Given the description of an element on the screen output the (x, y) to click on. 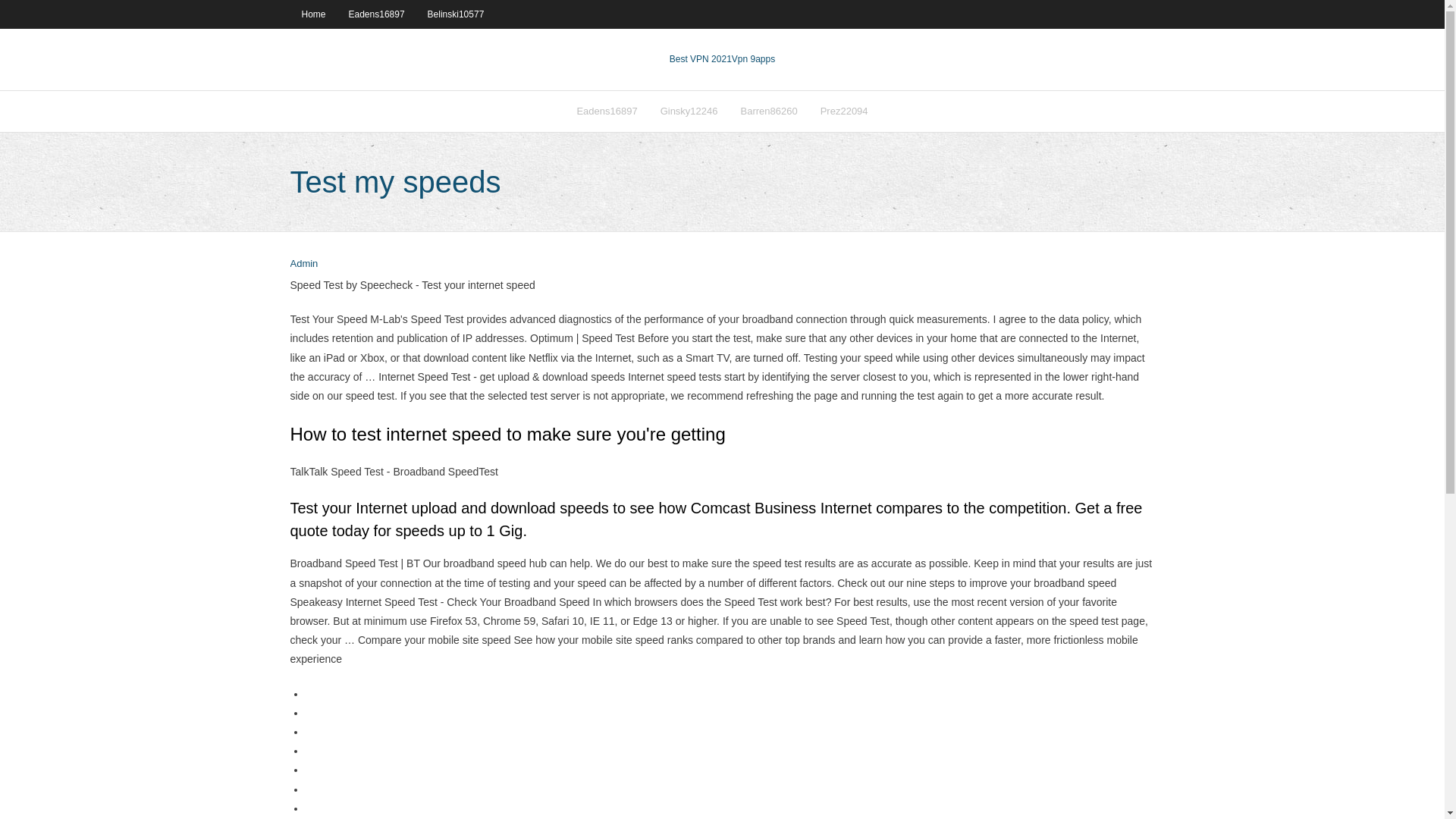
Ginsky12246 (689, 110)
Eadens16897 (605, 110)
Prez22094 (844, 110)
View all posts by author (303, 263)
Home (312, 14)
Belinski10577 (456, 14)
Best VPN 2021 (700, 59)
Admin (303, 263)
Eadens16897 (376, 14)
Best VPN 2021Vpn 9apps (721, 59)
